Given the description of an element on the screen output the (x, y) to click on. 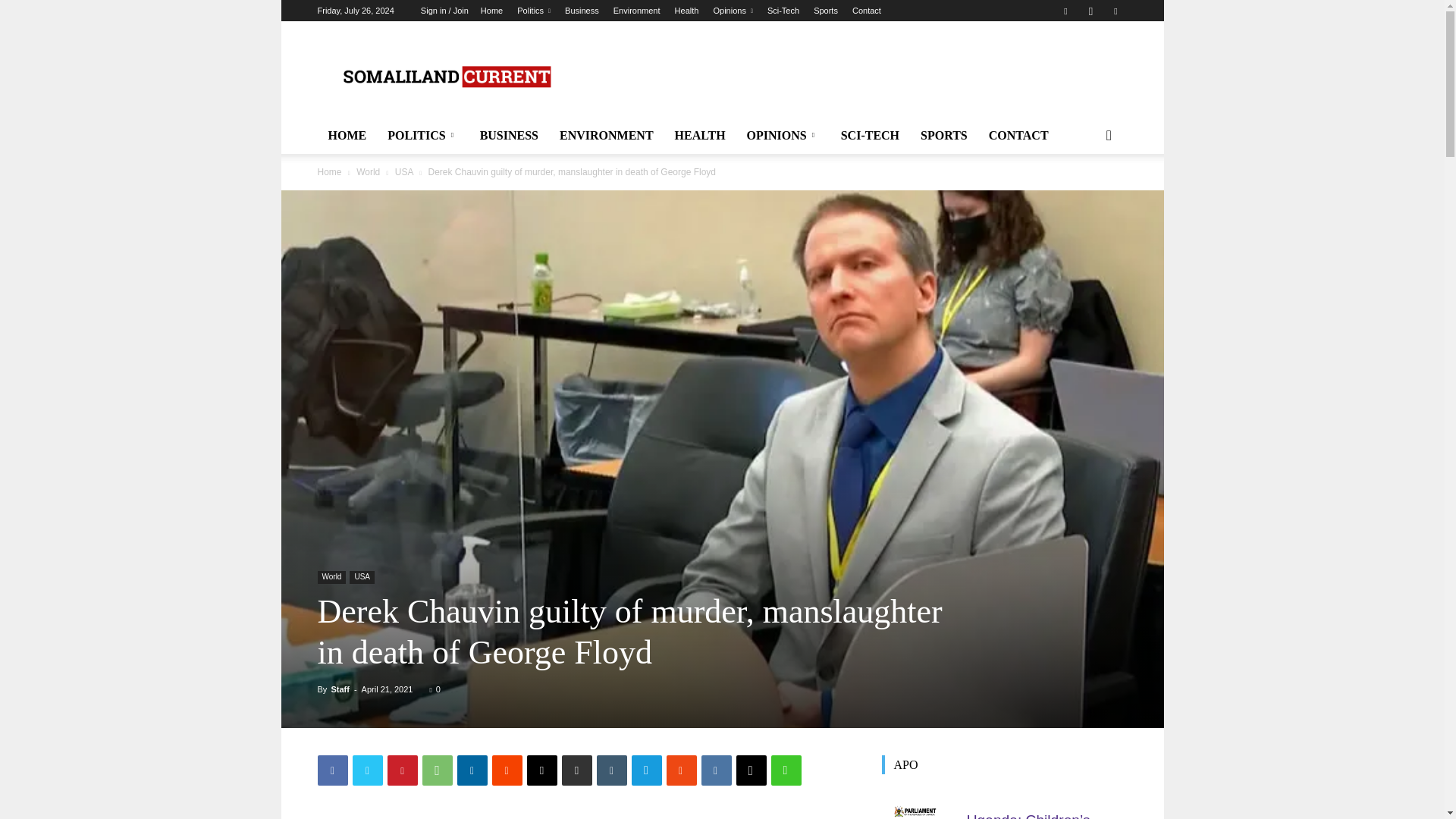
View all posts in USA (403, 172)
Facebook (1065, 10)
View all posts in World (368, 172)
Home (491, 10)
Facebook (332, 770)
Twitter (366, 770)
Pinterest (401, 770)
Instagram (1090, 10)
Politics (533, 10)
Twitter (1114, 10)
somalilandcurrent.com logo (445, 76)
